Given the description of an element on the screen output the (x, y) to click on. 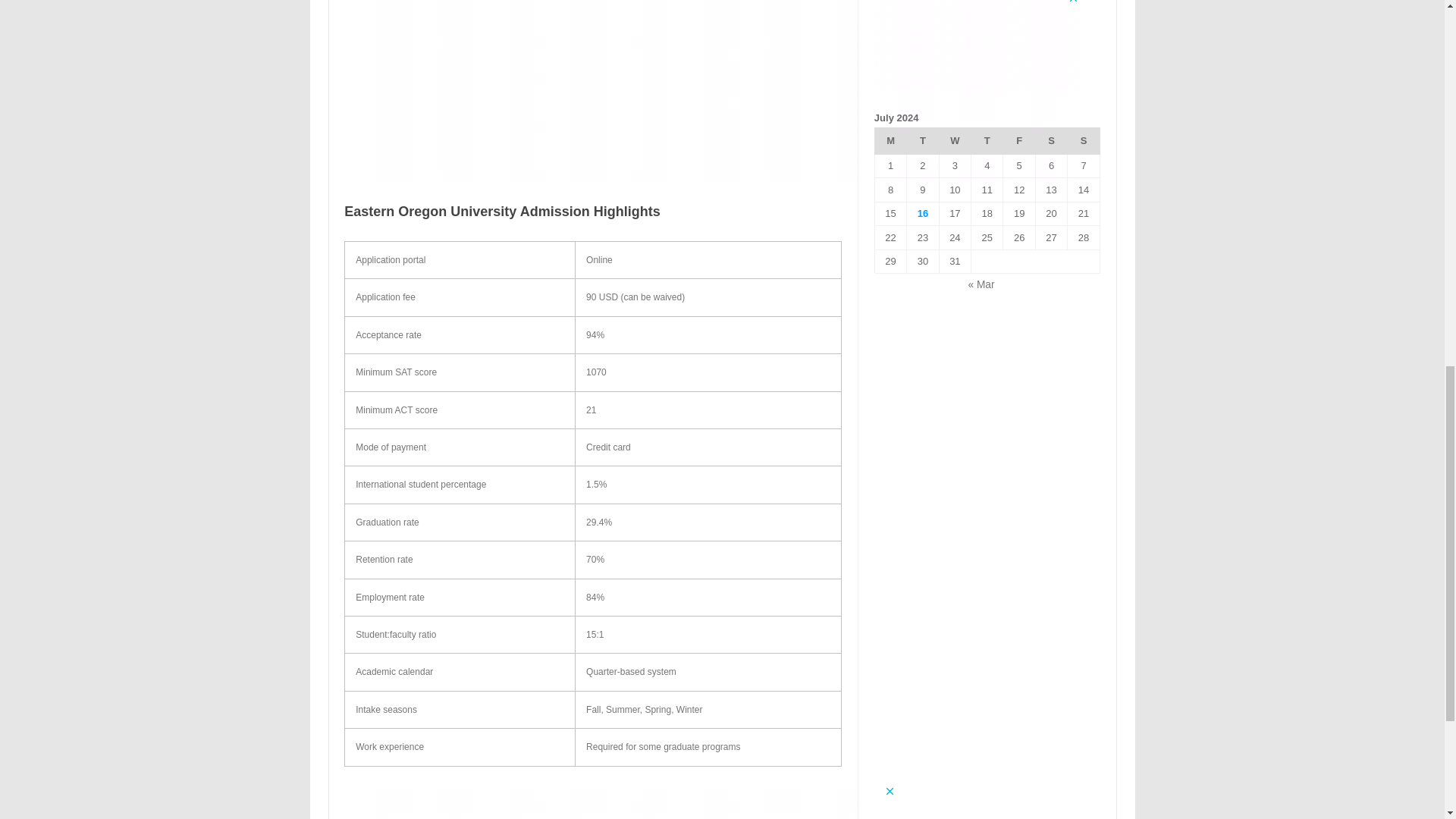
3rd party ad content (988, 47)
3rd party ad content (619, 801)
Thursday (987, 140)
Wednesday (955, 140)
Sunday (1083, 140)
Saturday (1051, 140)
3rd party ad content (711, 90)
Friday (1019, 140)
Tuesday (923, 140)
Monday (890, 140)
